Given the description of an element on the screen output the (x, y) to click on. 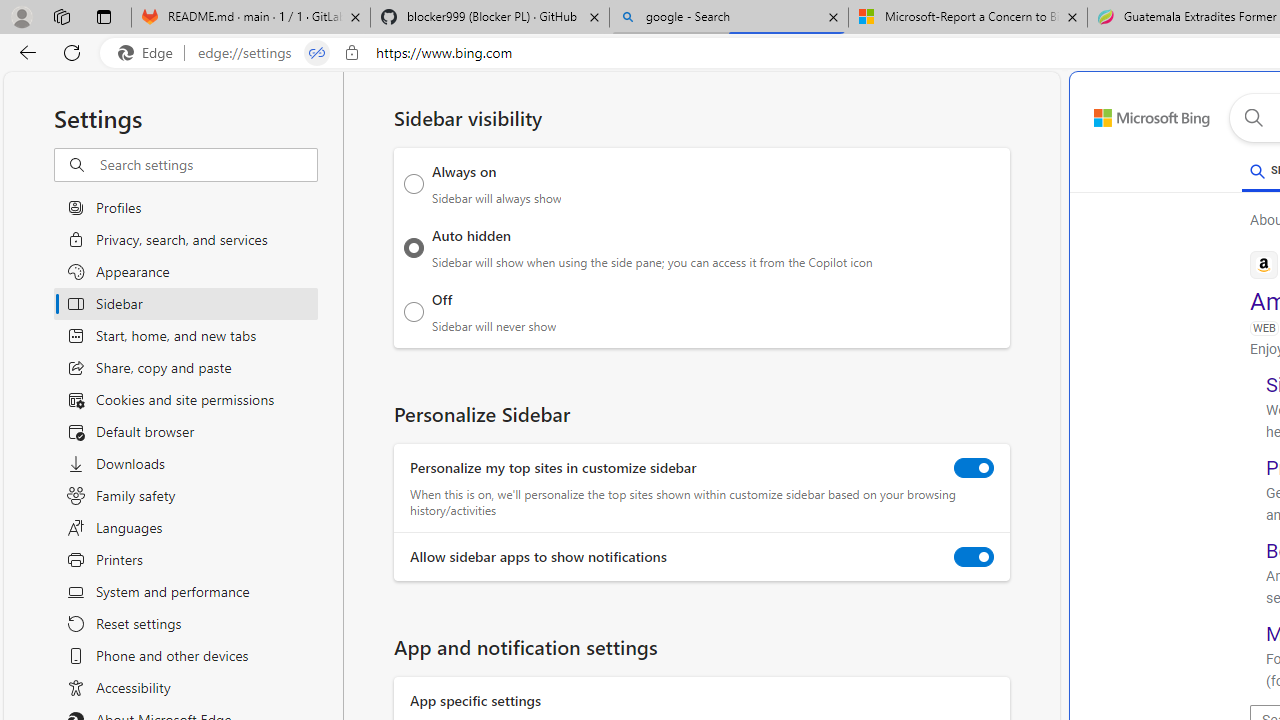
Search settings (207, 165)
Global web icon (1263, 264)
Edge (150, 53)
Tabs in split screen (317, 53)
Search button (1253, 117)
Back to Bing search (1139, 113)
Skip to content (1130, 111)
Always on Sidebar will always show (413, 183)
